Given the description of an element on the screen output the (x, y) to click on. 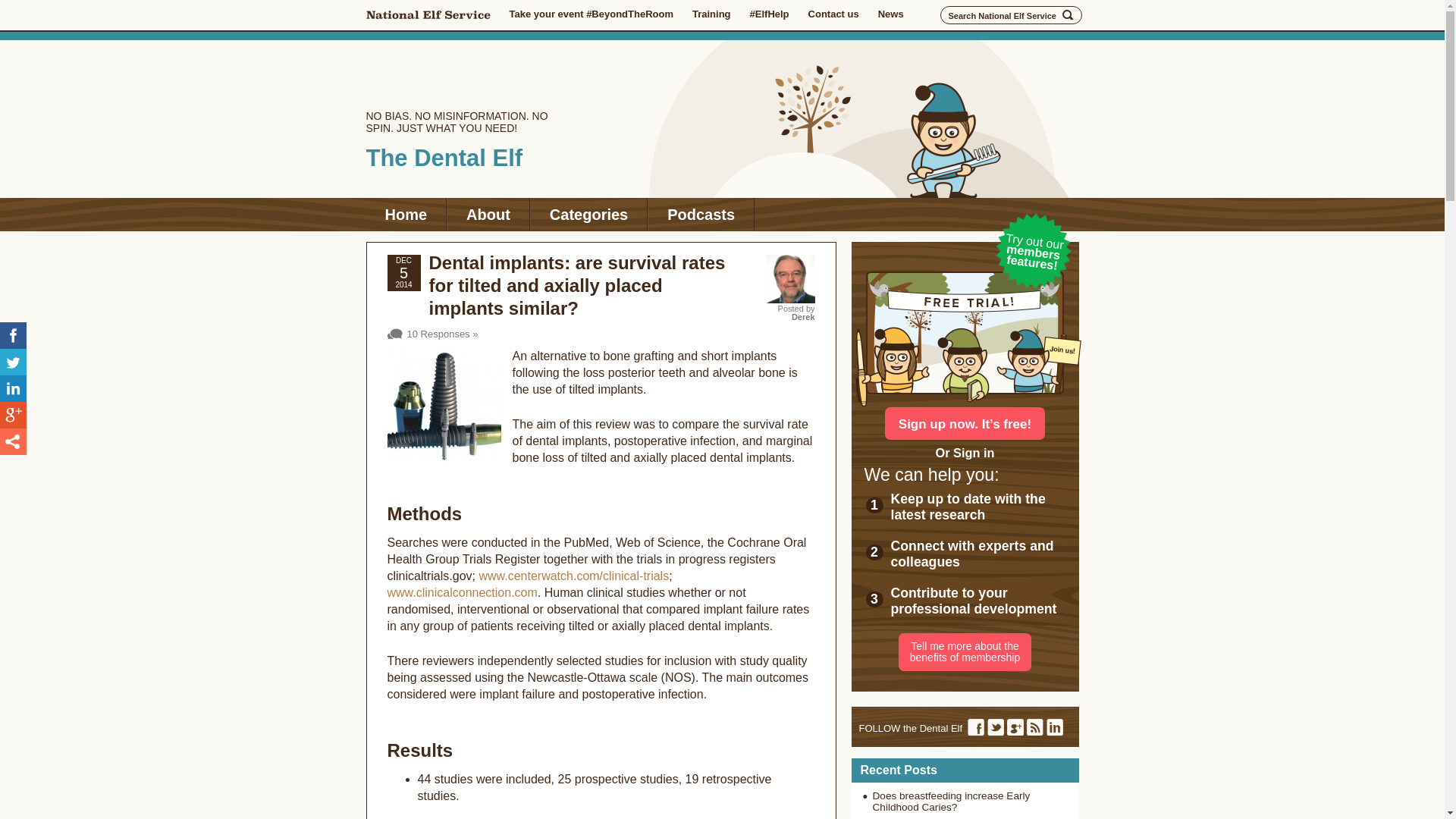
Categories (588, 214)
Share via sharethis (13, 441)
Tweet this on Twitter (13, 361)
Share on Facebook (13, 335)
Posts by Derek (803, 316)
Home (405, 214)
News (890, 13)
Search (1068, 14)
Training (711, 13)
Share on LinkedIn (13, 388)
Search (1068, 14)
Contact us (833, 13)
About (487, 214)
